Given the description of an element on the screen output the (x, y) to click on. 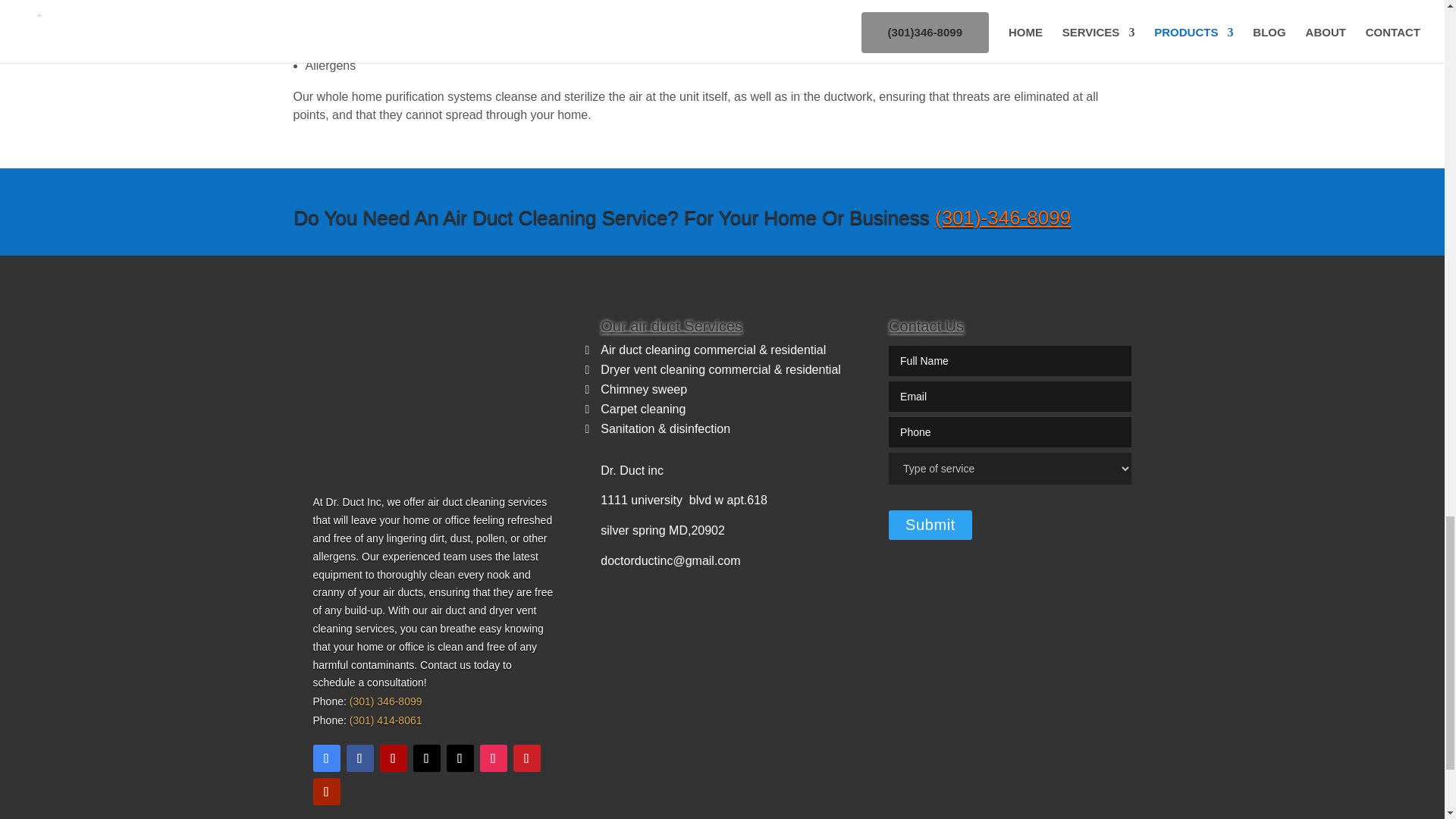
Carpet cleaning (642, 408)
Follow on Instagram (492, 758)
Submit (930, 524)
Submit (930, 524)
Dr. Duct inc (631, 470)
Follow on Youtube (326, 791)
Follow on Google (326, 758)
Dr duct Final black (433, 393)
Chimney sweep (643, 389)
1111 university  blvd w apt.618 (683, 499)
